Given the description of an element on the screen output the (x, y) to click on. 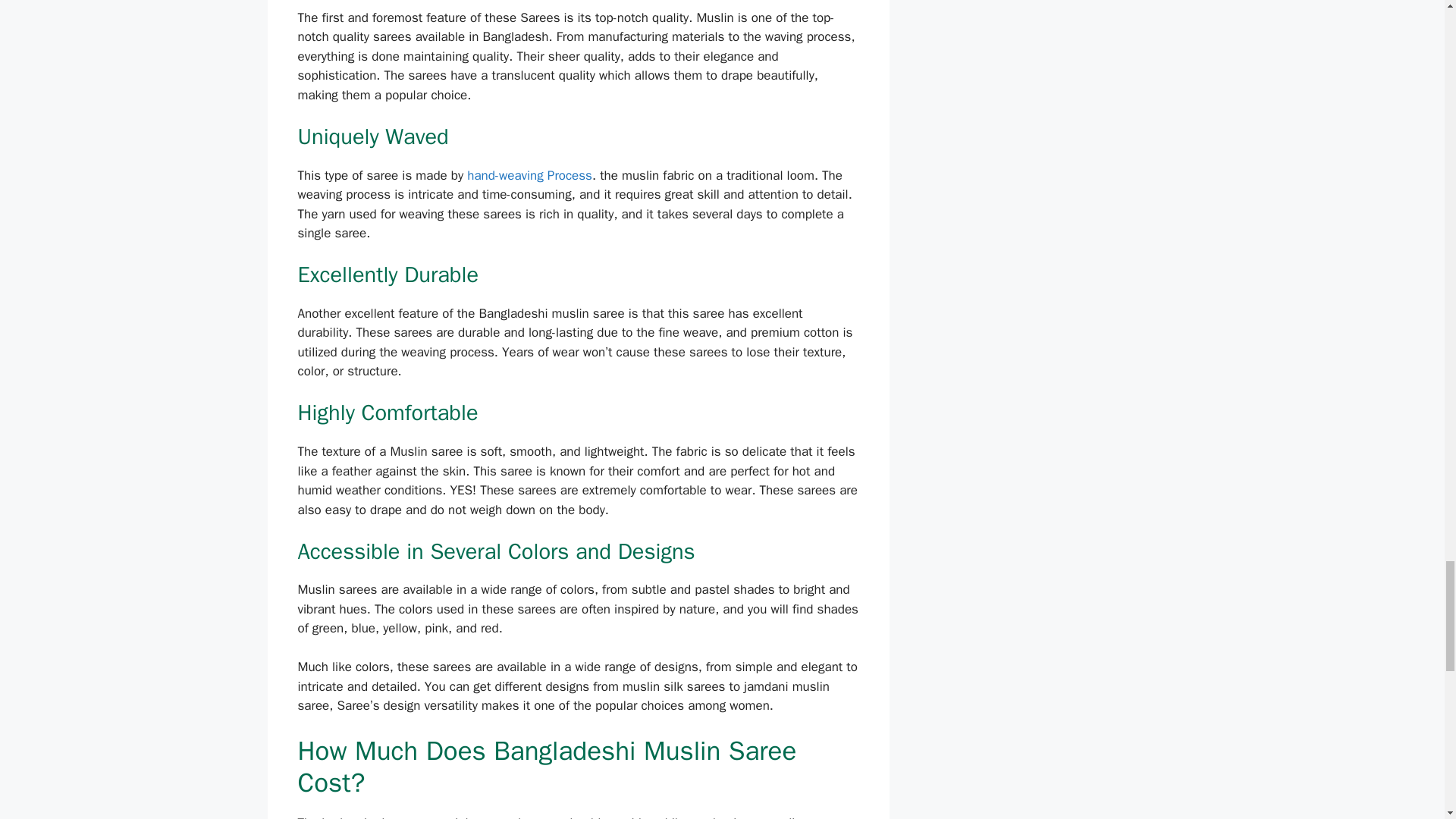
hand-weaving Process (529, 175)
